Given the description of an element on the screen output the (x, y) to click on. 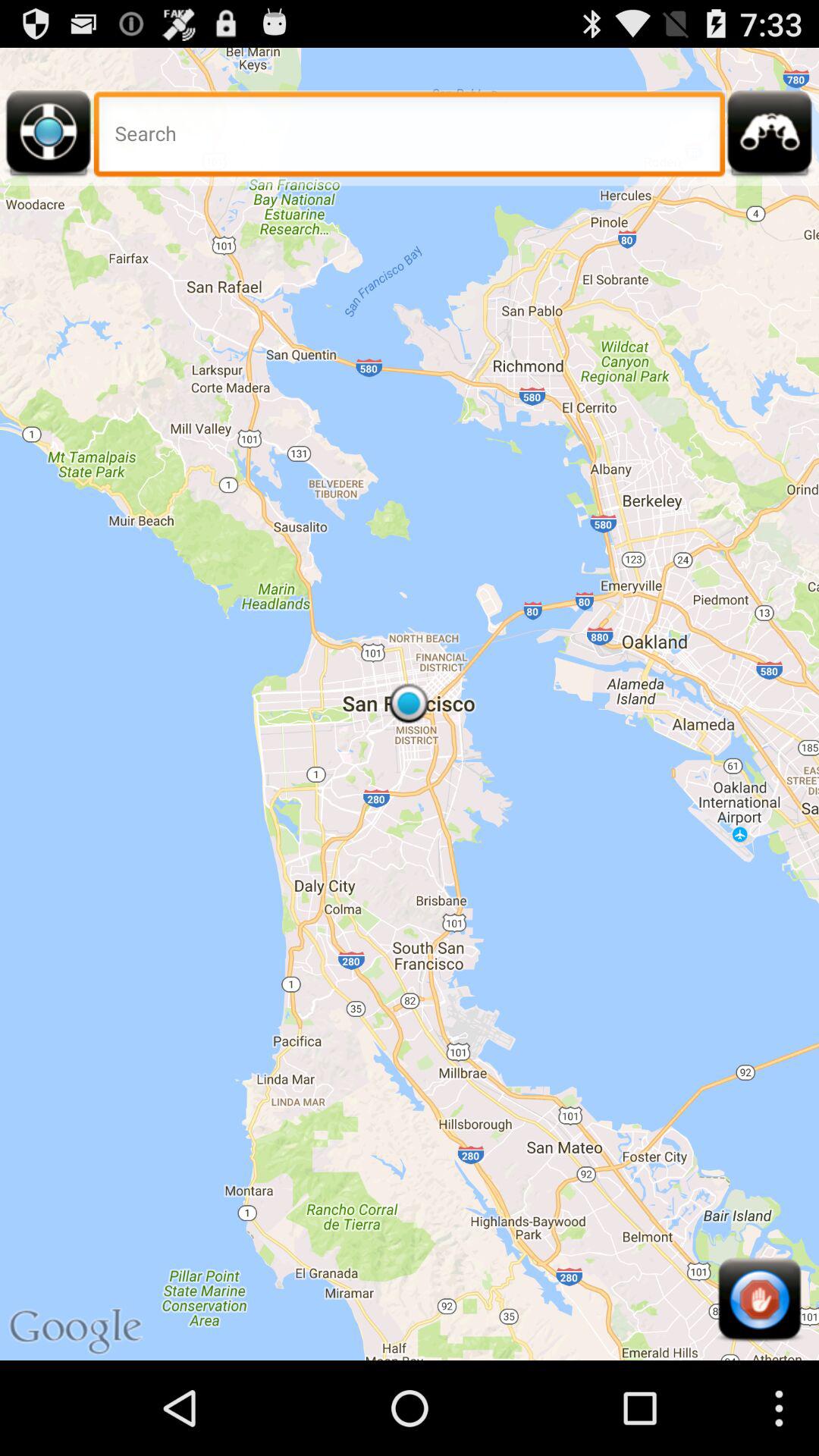
search for location (409, 137)
